Given the description of an element on the screen output the (x, y) to click on. 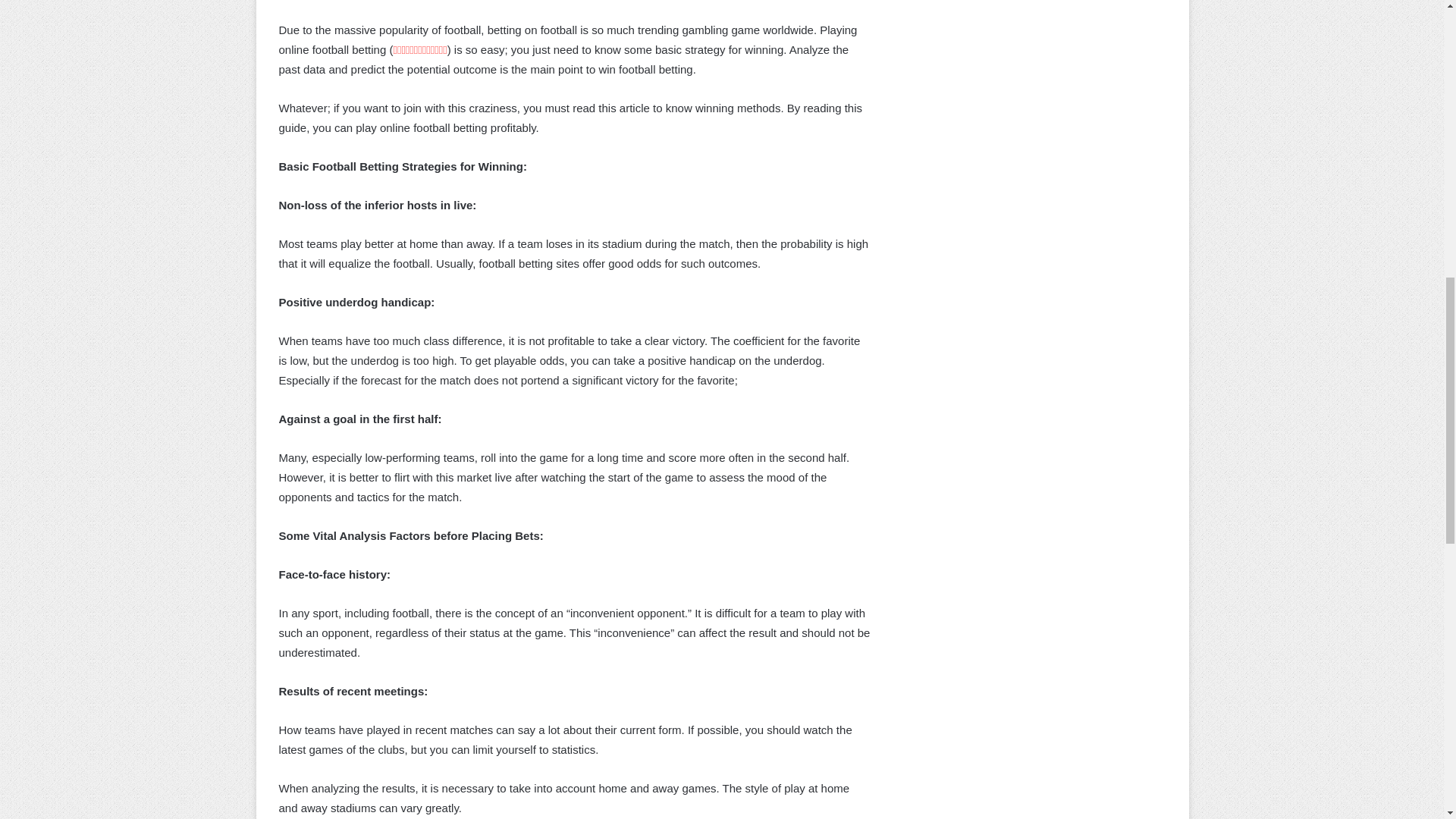
Back to top button (1419, 62)
